Given the description of an element on the screen output the (x, y) to click on. 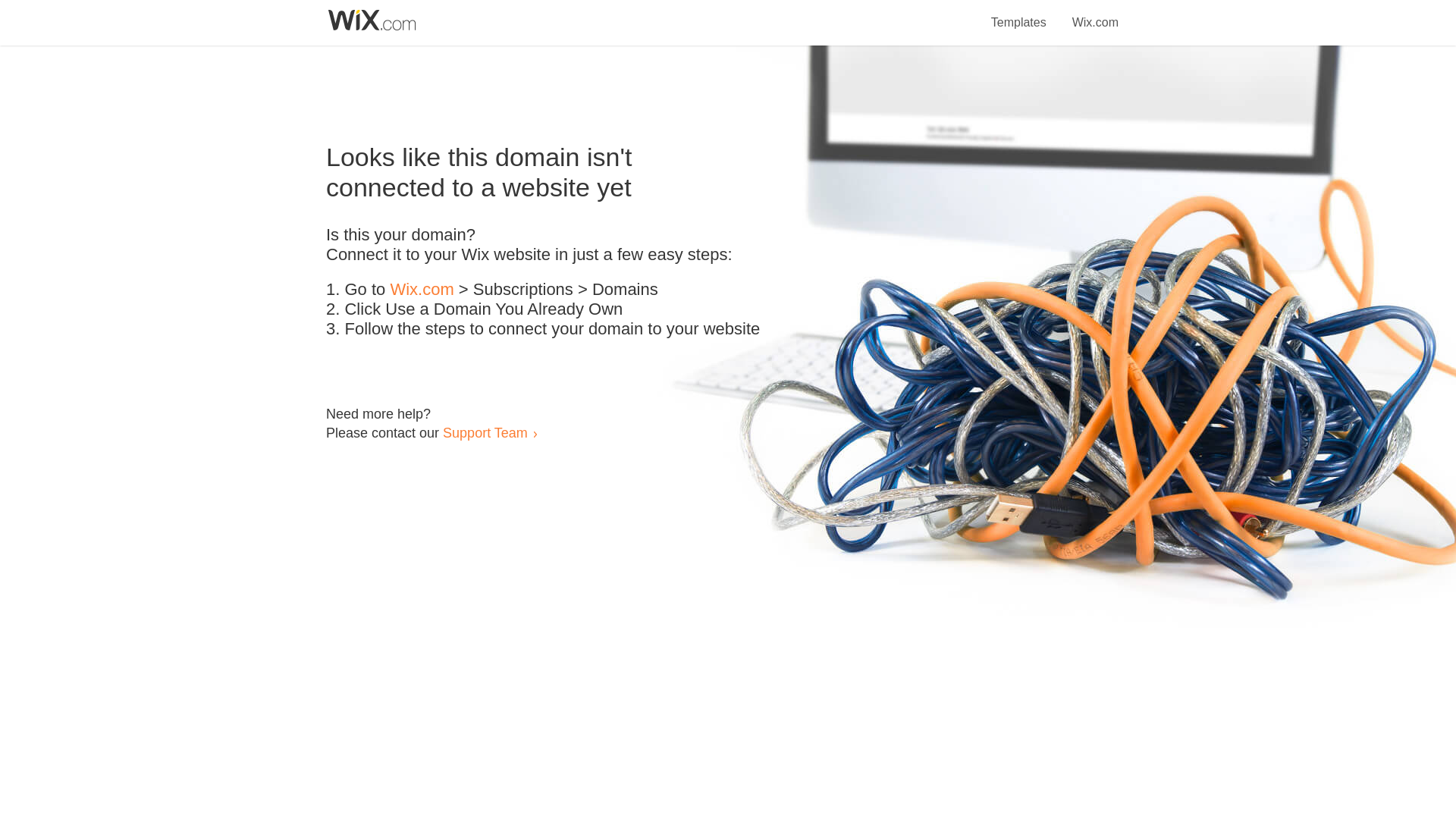
Wix.com (421, 289)
Wix.com (1095, 14)
Templates (1018, 14)
Support Team (484, 432)
